Given the description of an element on the screen output the (x, y) to click on. 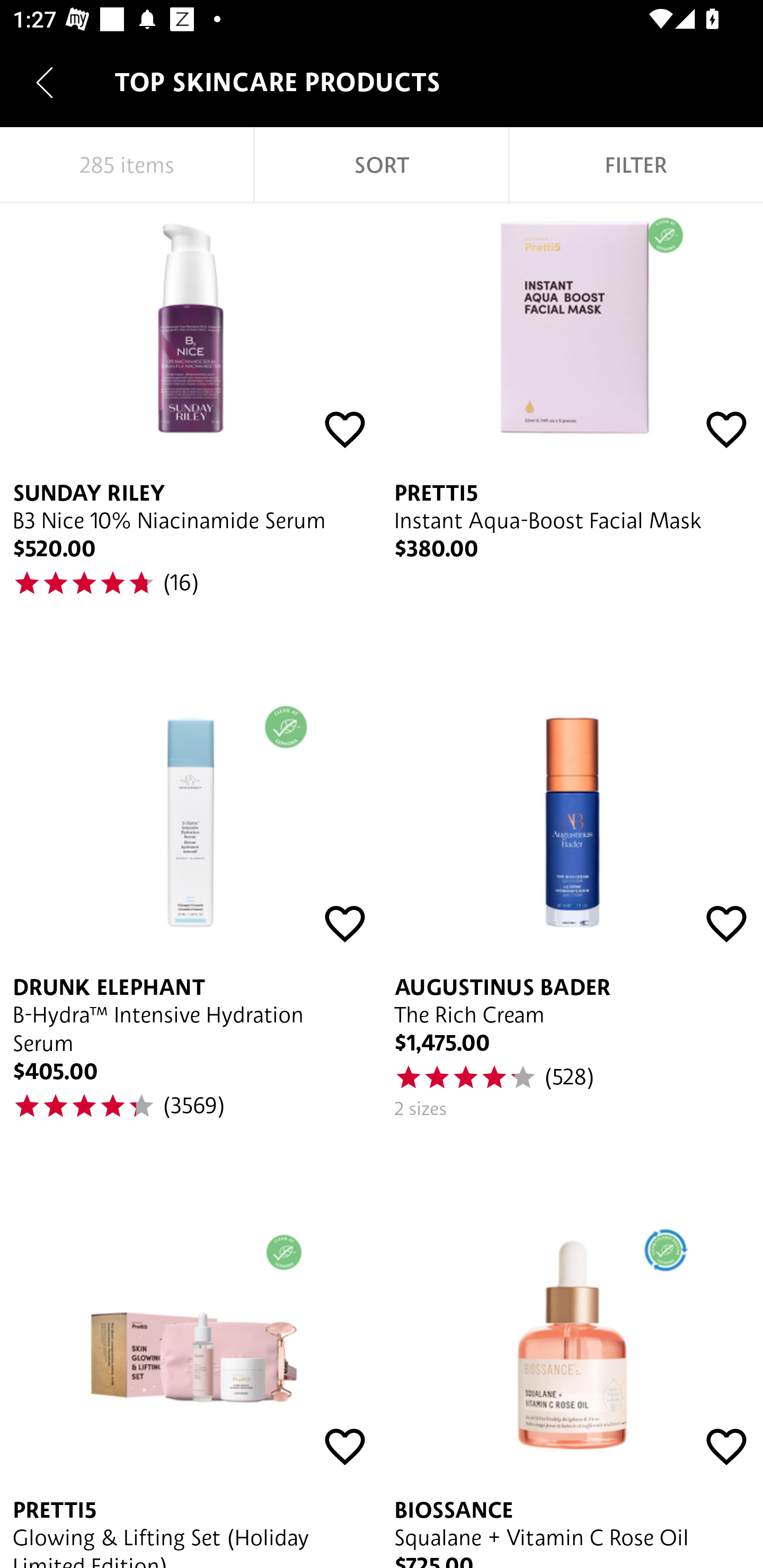
Navigate up (44, 82)
SORT (381, 165)
FILTER (636, 165)
PRETTI5 Instant Aqua-Boost Facial Mask $380.00 (572, 420)
BIOSSANCE Squalane + Vitamin C Rose Oil $725.00 (572, 1364)
